Given the description of an element on the screen output the (x, y) to click on. 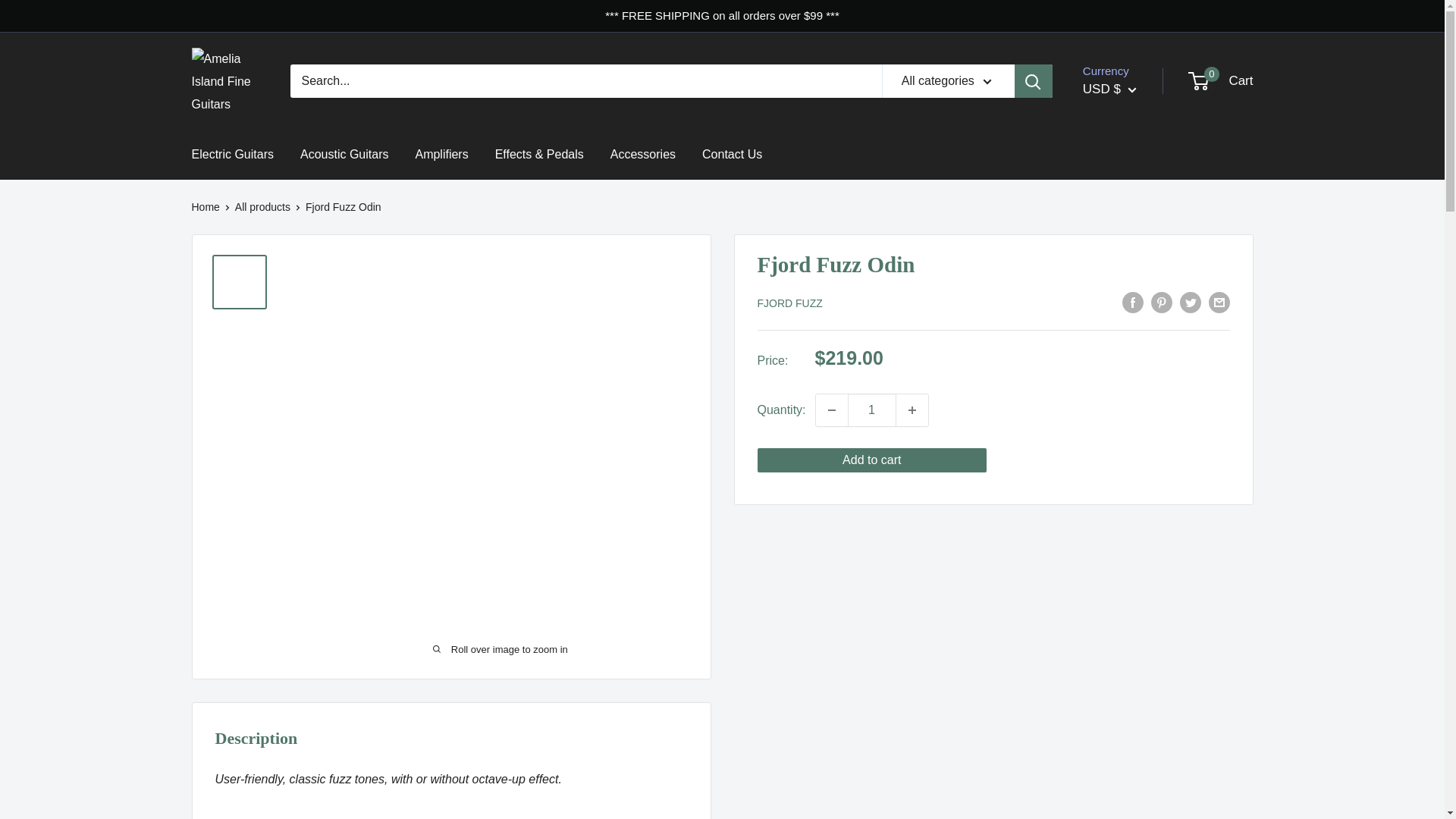
CRC (1133, 776)
BIF (1133, 544)
CDF (1133, 706)
BZD (1133, 660)
AED (1133, 266)
ANG (1133, 359)
BOB (1133, 591)
BGN (1133, 521)
CAD (1133, 683)
AZN (1133, 429)
